Given the description of an element on the screen output the (x, y) to click on. 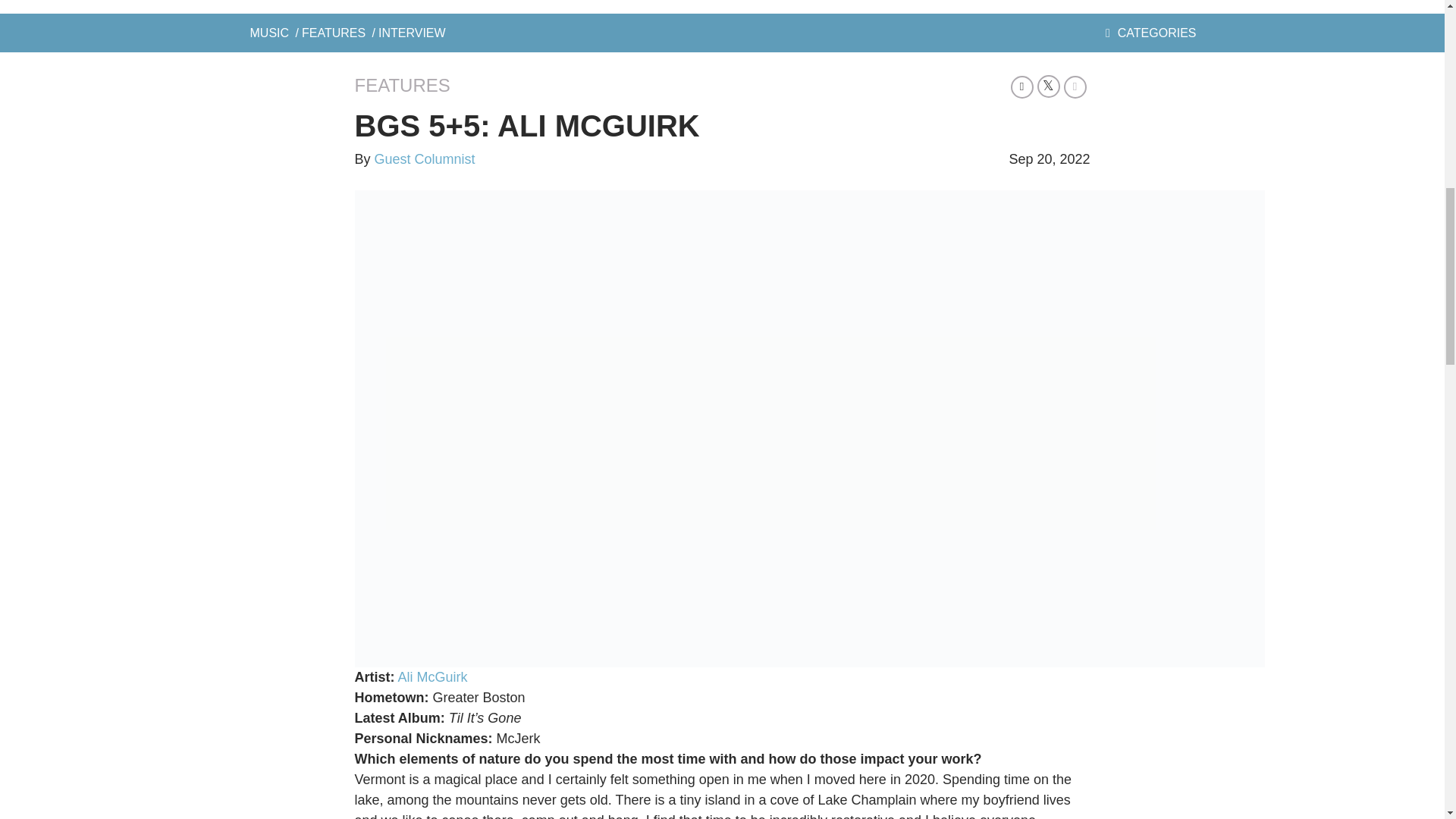
INTERVIEW (411, 32)
FEATURES (333, 32)
MUSIC (269, 32)
